Given the description of an element on the screen output the (x, y) to click on. 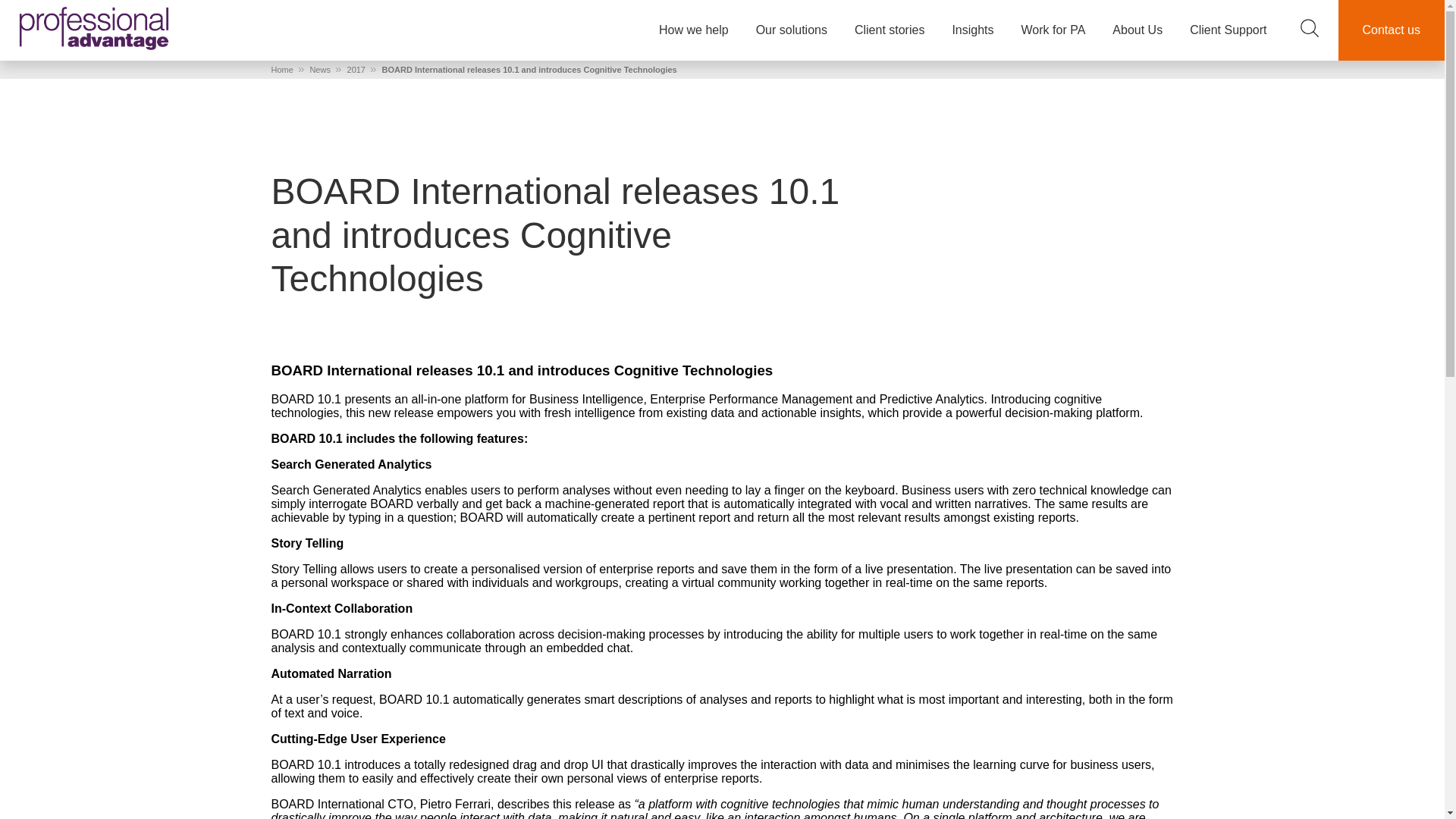
How we help (693, 30)
Professional Advantage (93, 27)
Our solutions (790, 30)
Search (1309, 27)
